Given the description of an element on the screen output the (x, y) to click on. 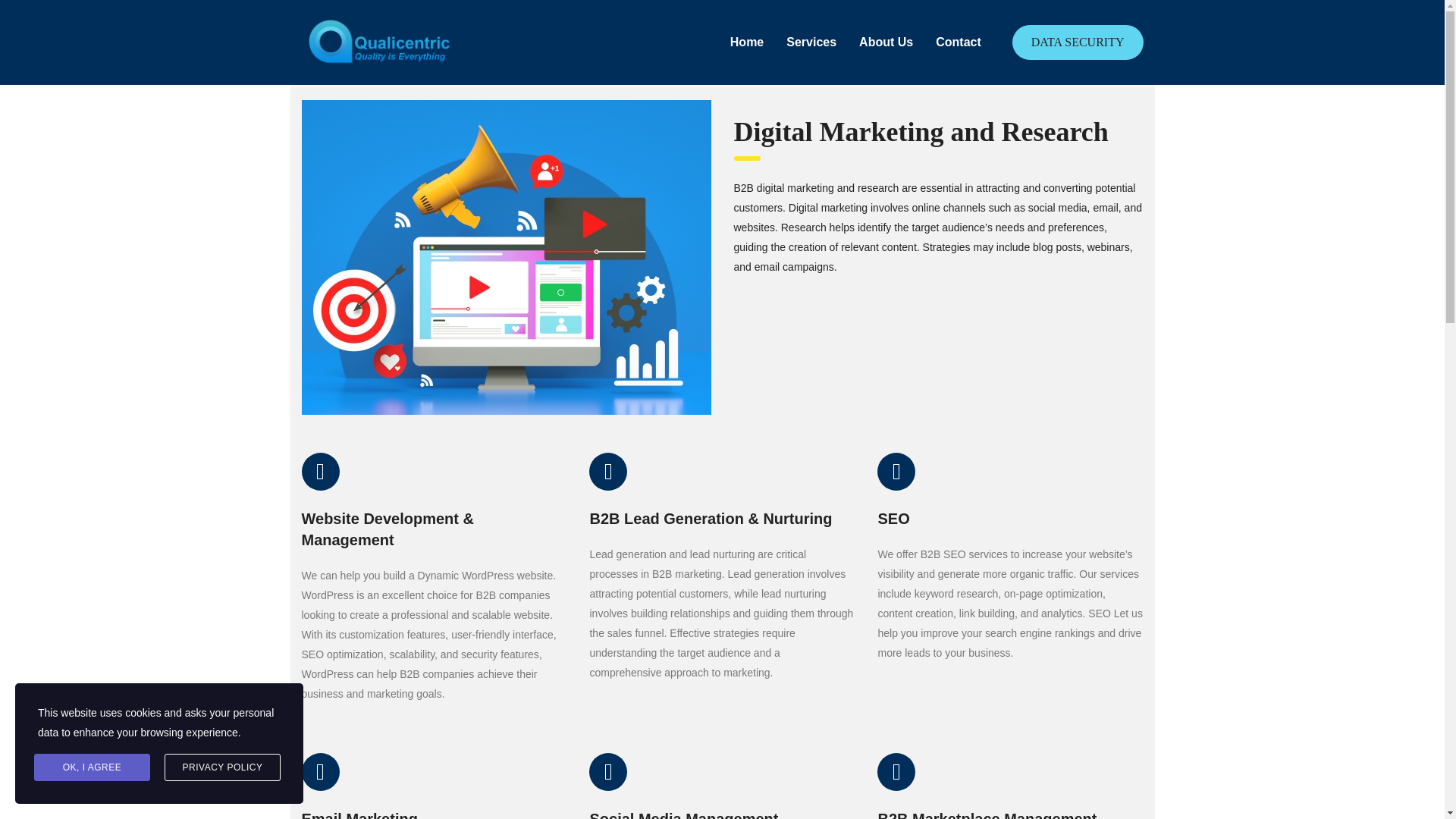
Services (810, 42)
qualicentric-digital-marketing-research (506, 256)
OK, I AGREE (91, 767)
Home (746, 42)
Contact (958, 42)
PRIVACY POLICY (222, 767)
About Us (885, 42)
DATA SECURITY (1076, 42)
